Given the description of an element on the screen output the (x, y) to click on. 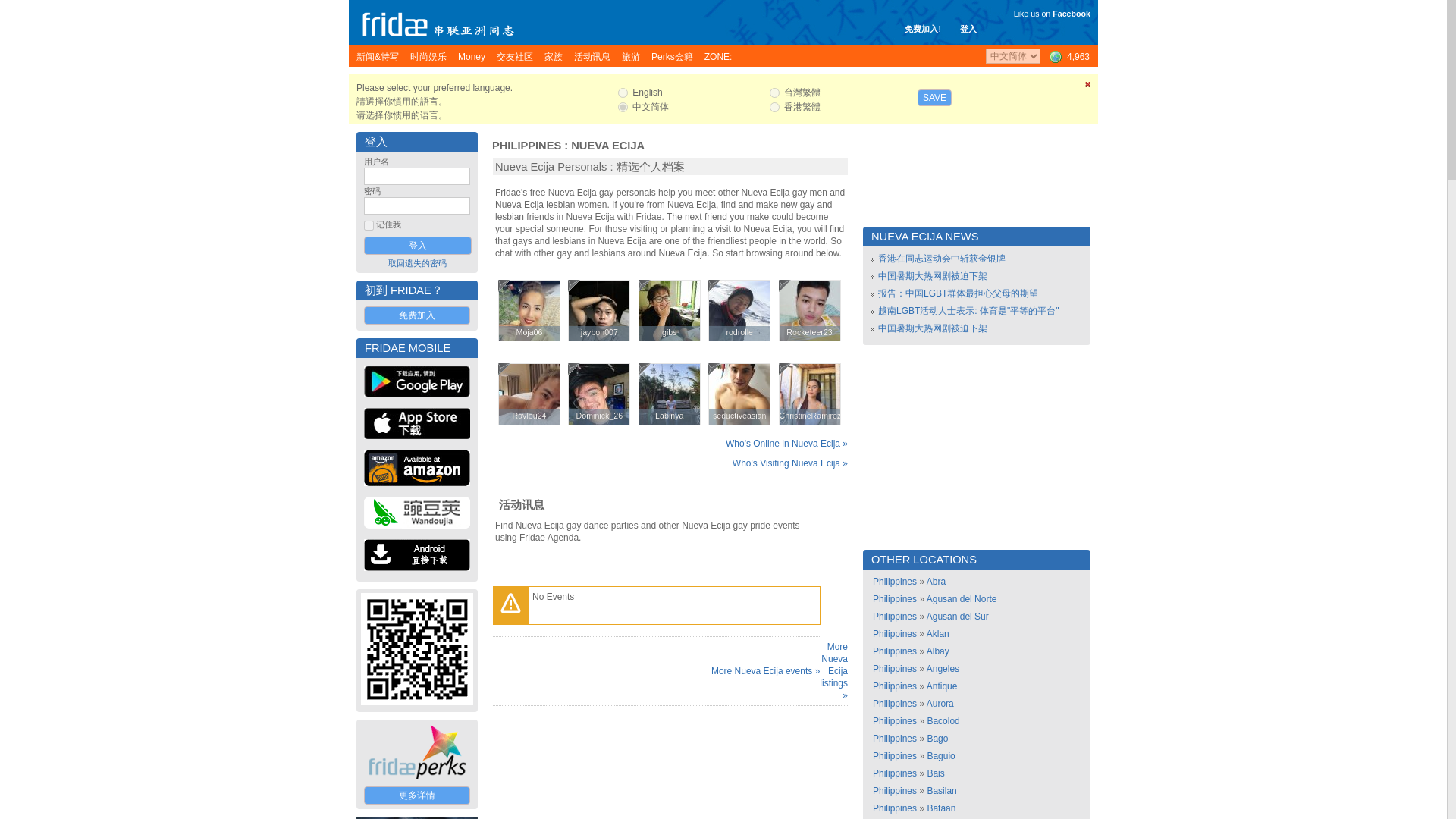
4,963 (1068, 56)
Offline (644, 285)
Money (471, 55)
Offline (504, 285)
ZONE: (718, 55)
Worldwide (1068, 56)
sc (622, 107)
Offline (573, 285)
1 (369, 225)
en (622, 92)
